Given the description of an element on the screen output the (x, y) to click on. 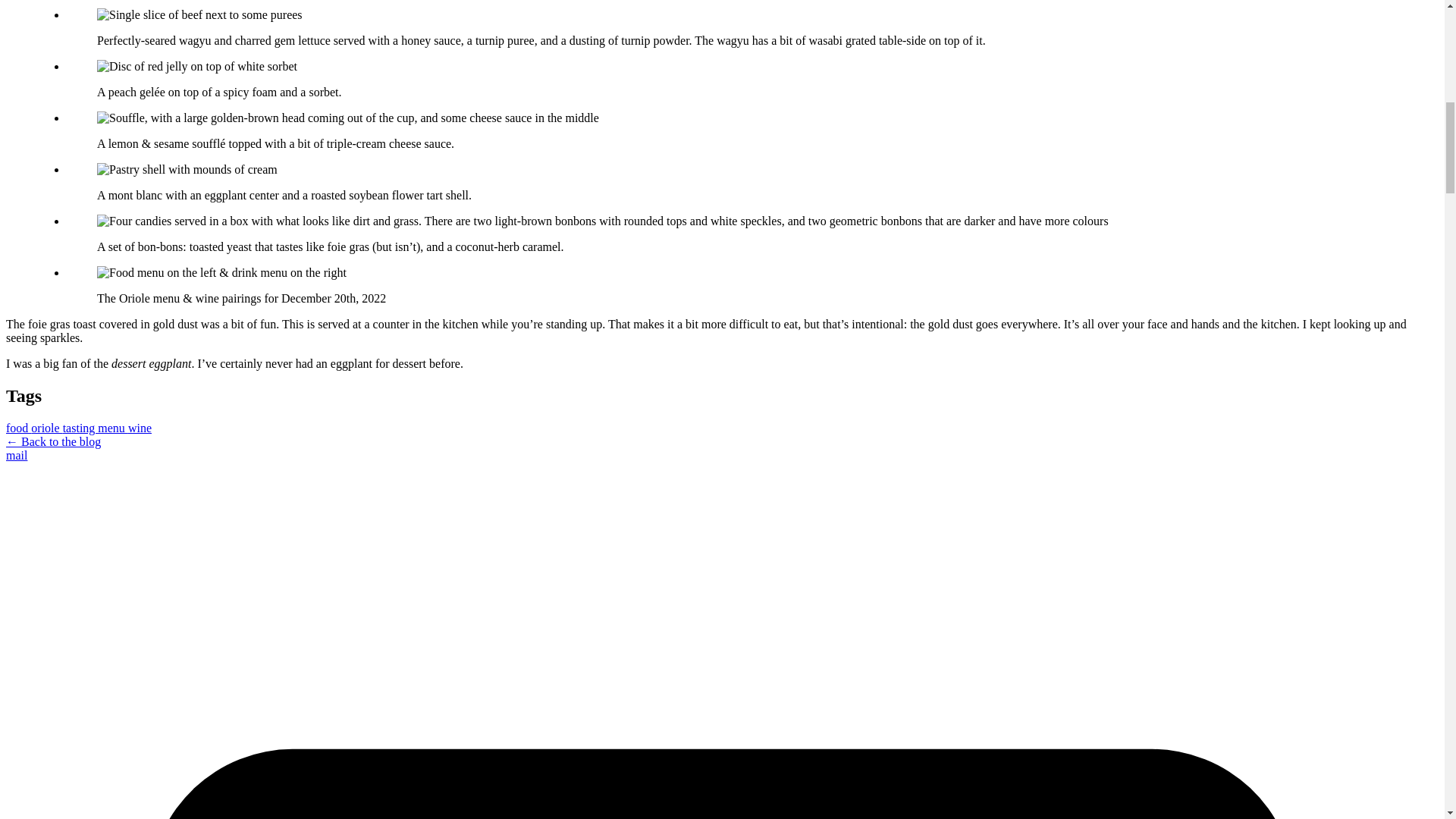
Oriole - Menu (221, 273)
Oriole - Bonbons (602, 221)
oriole (46, 427)
Oriole - Peach Palette Cleanser (197, 66)
wine (139, 427)
Oriole - Eggplant Mont Blanc (187, 169)
food (17, 427)
tasting menu (95, 427)
Oriole - Wagyu (199, 15)
